Given the description of an element on the screen output the (x, y) to click on. 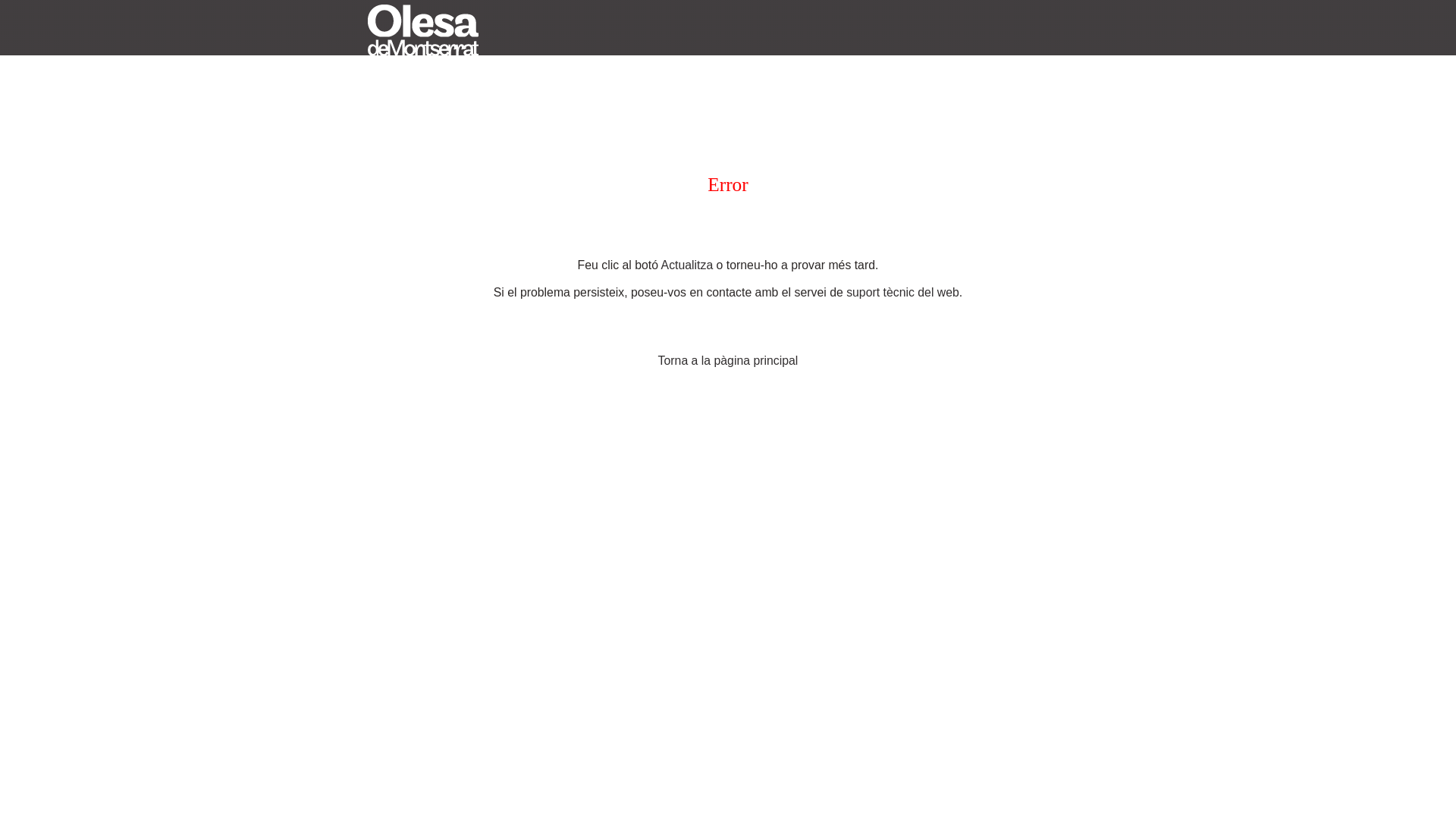
Actualitza Element type: text (687, 264)
Turisme d'Olesa Element type: hover (422, 28)
